Given the description of an element on the screen output the (x, y) to click on. 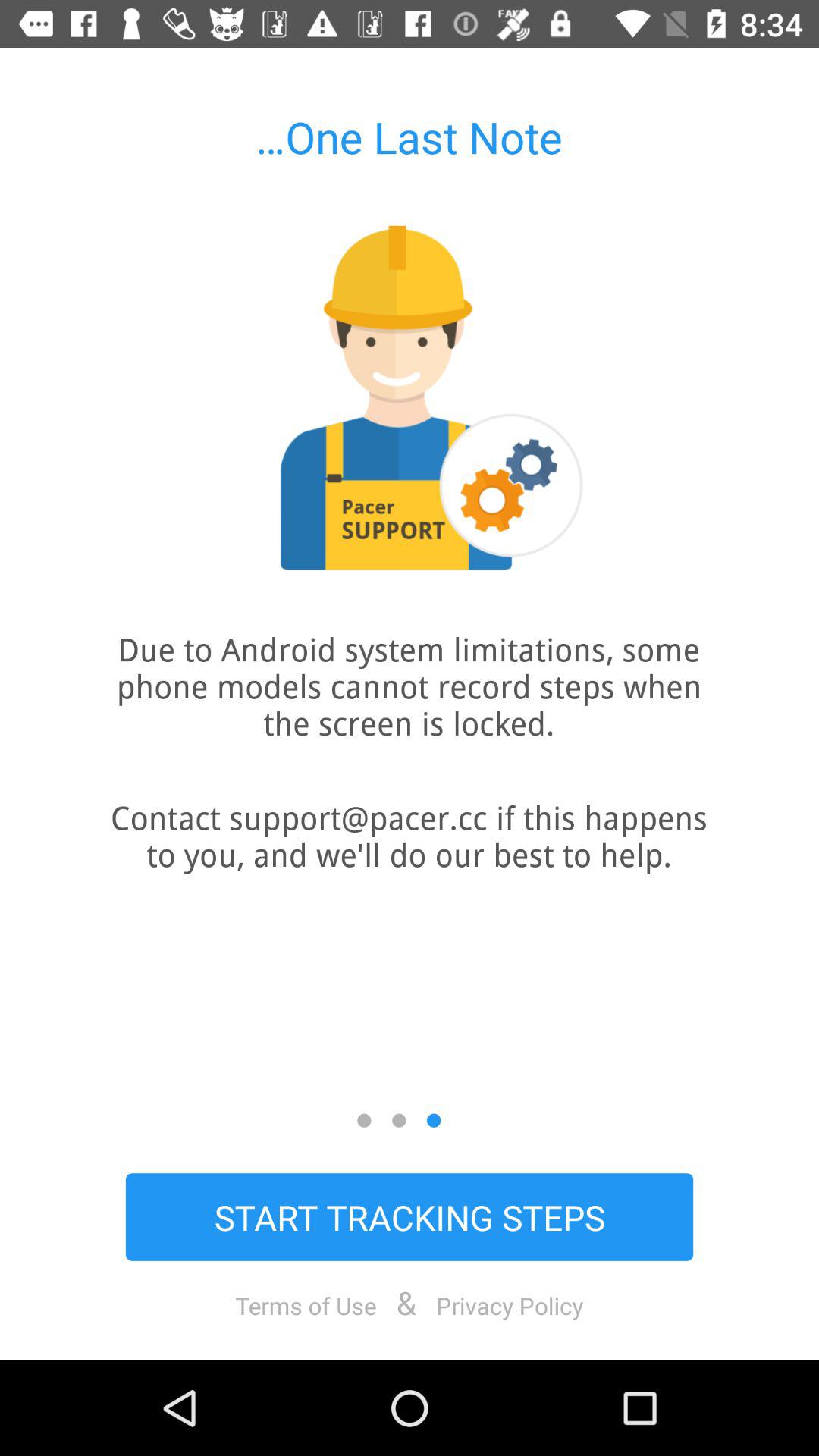
scroll to start tracking steps (409, 1217)
